Given the description of an element on the screen output the (x, y) to click on. 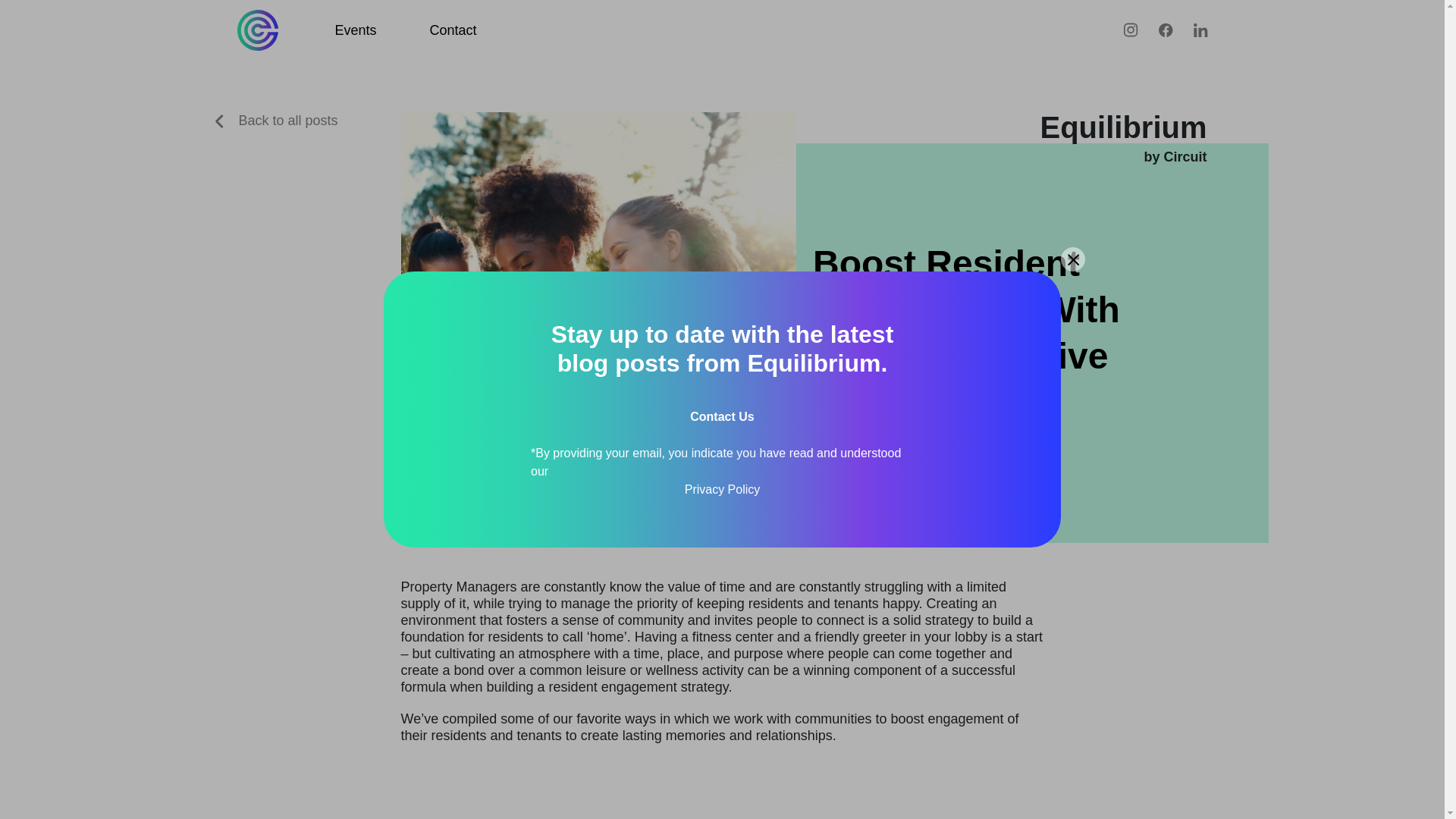
Privacy Policy (722, 489)
Events (355, 29)
Back to all posts (276, 120)
Contact (453, 29)
Contact Us (722, 416)
